Given the description of an element on the screen output the (x, y) to click on. 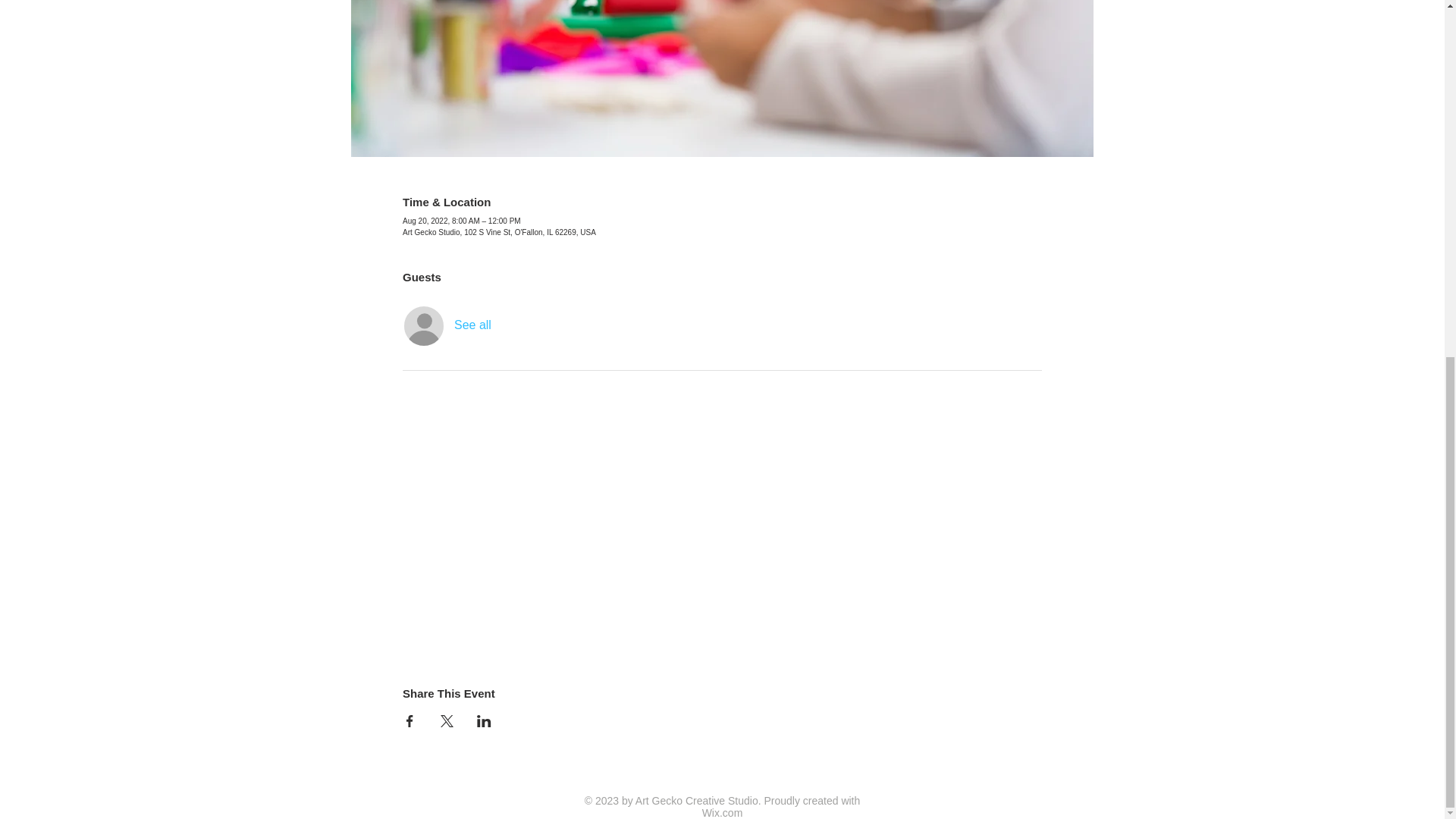
See all (473, 324)
